Given the description of an element on the screen output the (x, y) to click on. 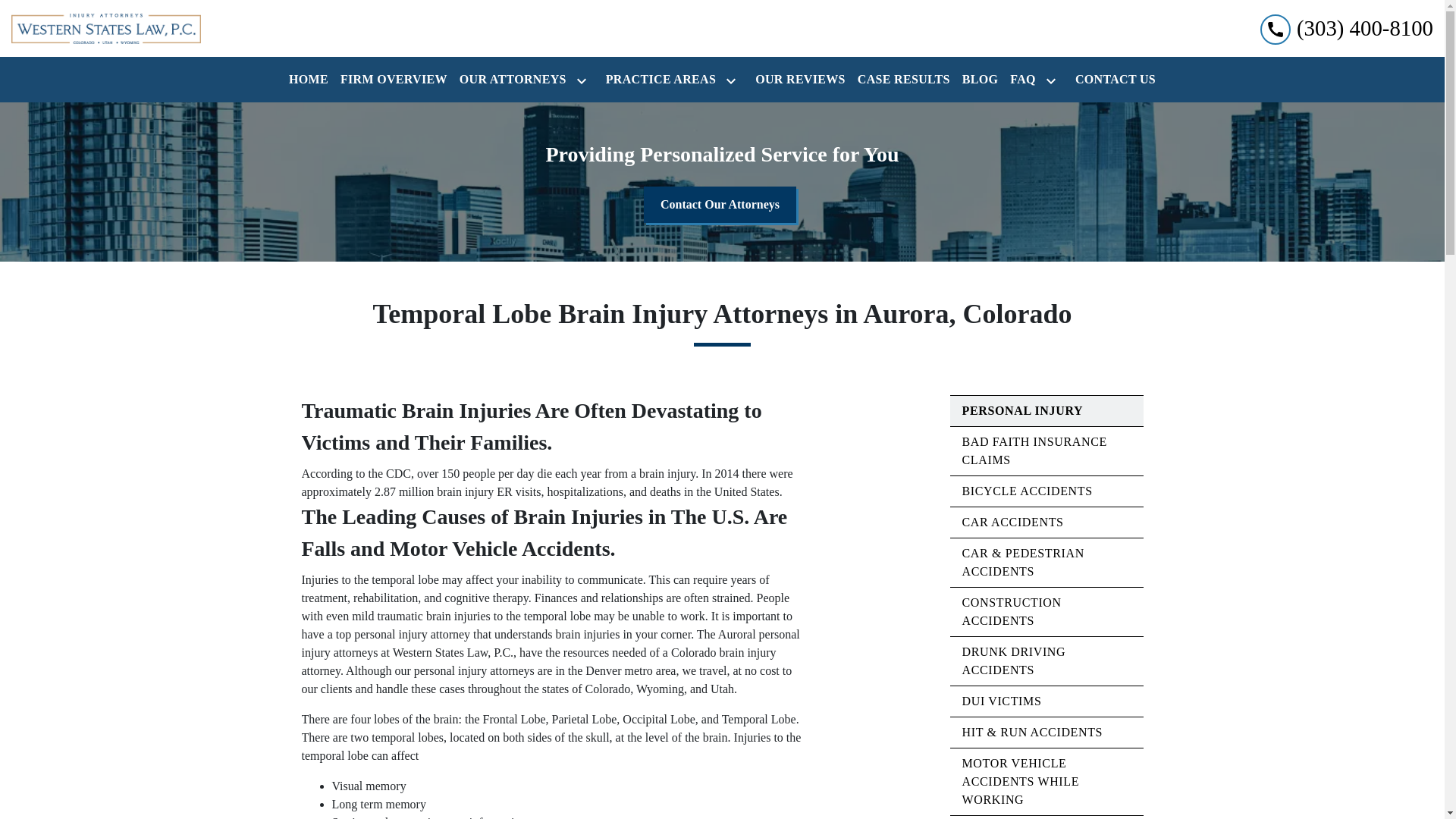
OUR ATTORNEYS (509, 79)
FIRM OVERVIEW (393, 79)
PRACTICE AREAS (657, 79)
HOME (308, 79)
